Given the description of an element on the screen output the (x, y) to click on. 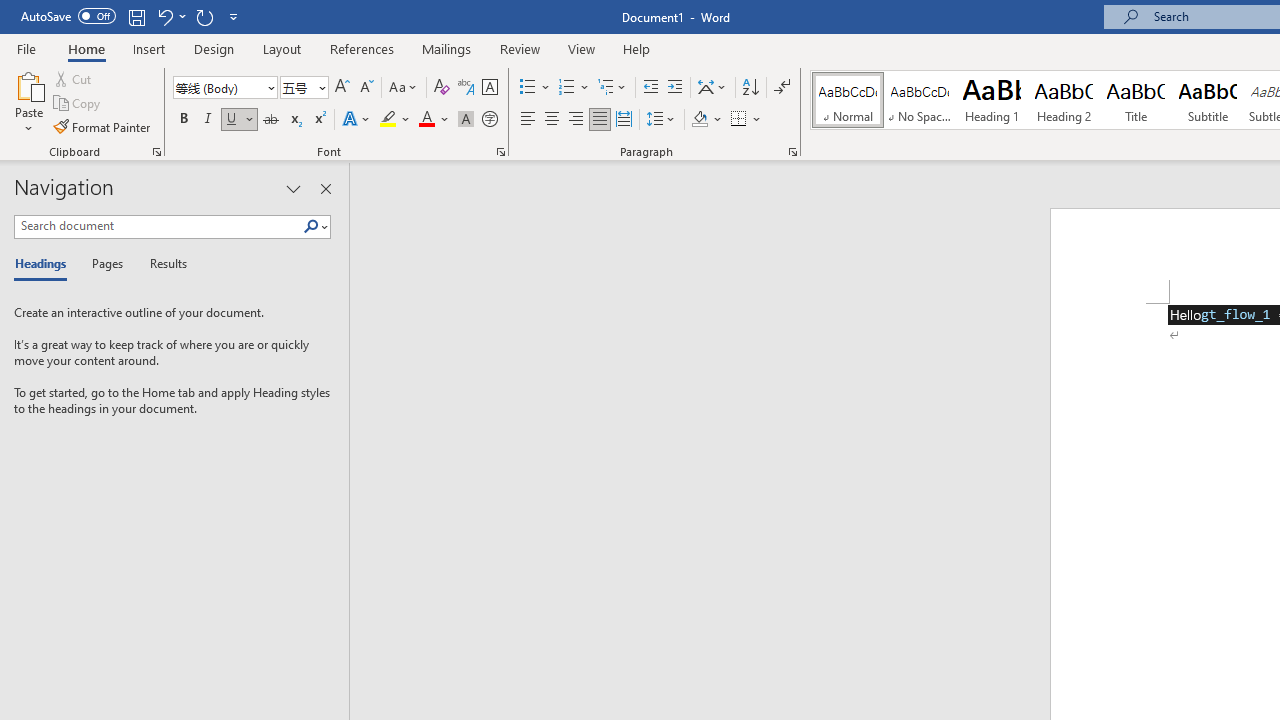
Strikethrough (270, 119)
Distributed (623, 119)
Cut (73, 78)
Open (320, 87)
Superscript (319, 119)
Format Painter (103, 126)
Increase Indent (675, 87)
Search document (157, 226)
Phonetic Guide... (465, 87)
